Given the description of an element on the screen output the (x, y) to click on. 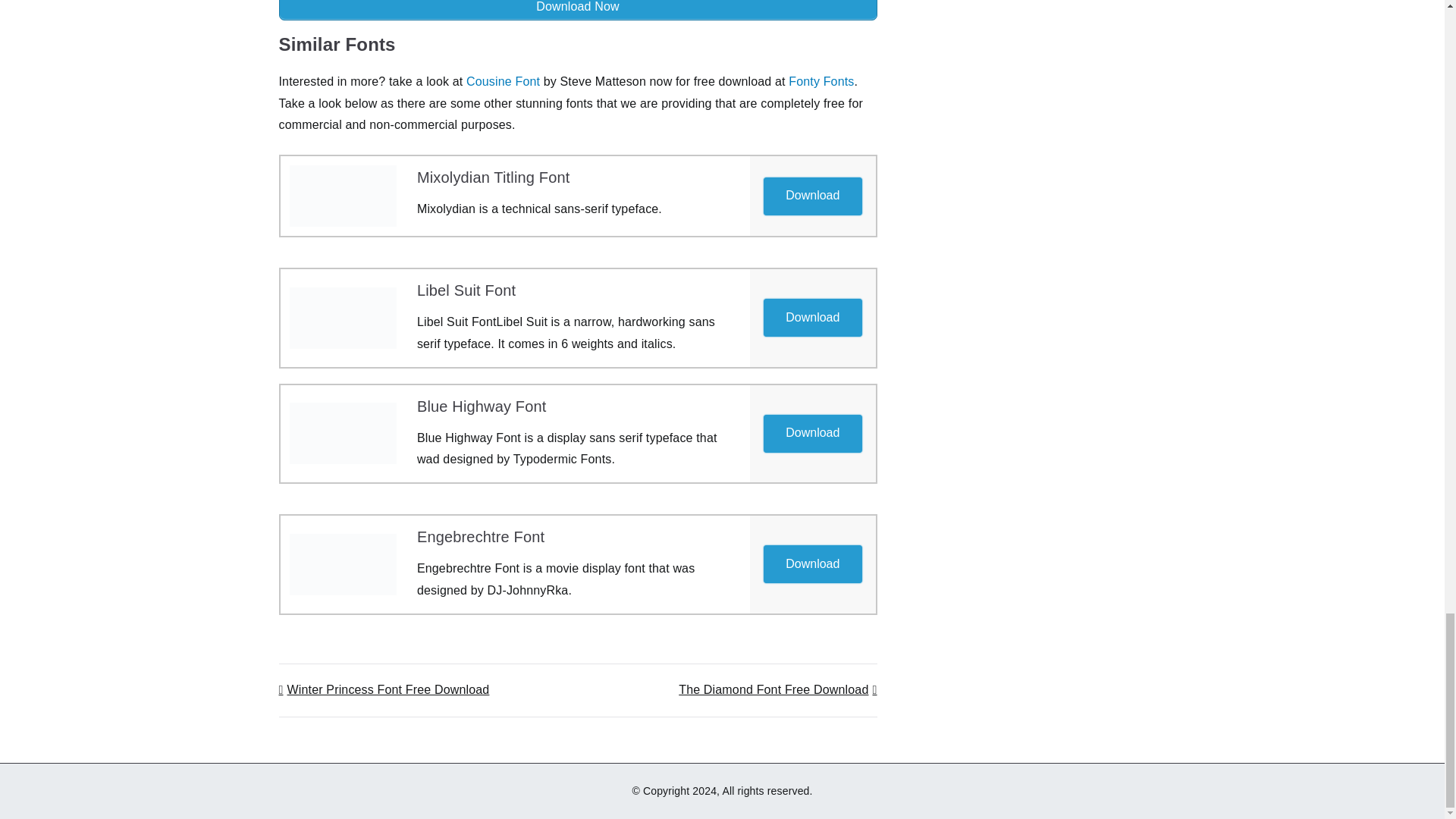
Download (811, 564)
Download (811, 317)
Winter Princess Font Free Download (384, 689)
The Diamond Font Free Download (777, 689)
Download (813, 317)
Download (813, 563)
Download Now (578, 10)
Download (811, 433)
Download (813, 195)
Fonty Fonts (821, 81)
Download (811, 196)
Cousine Font (502, 81)
Download (813, 431)
